Given the description of an element on the screen output the (x, y) to click on. 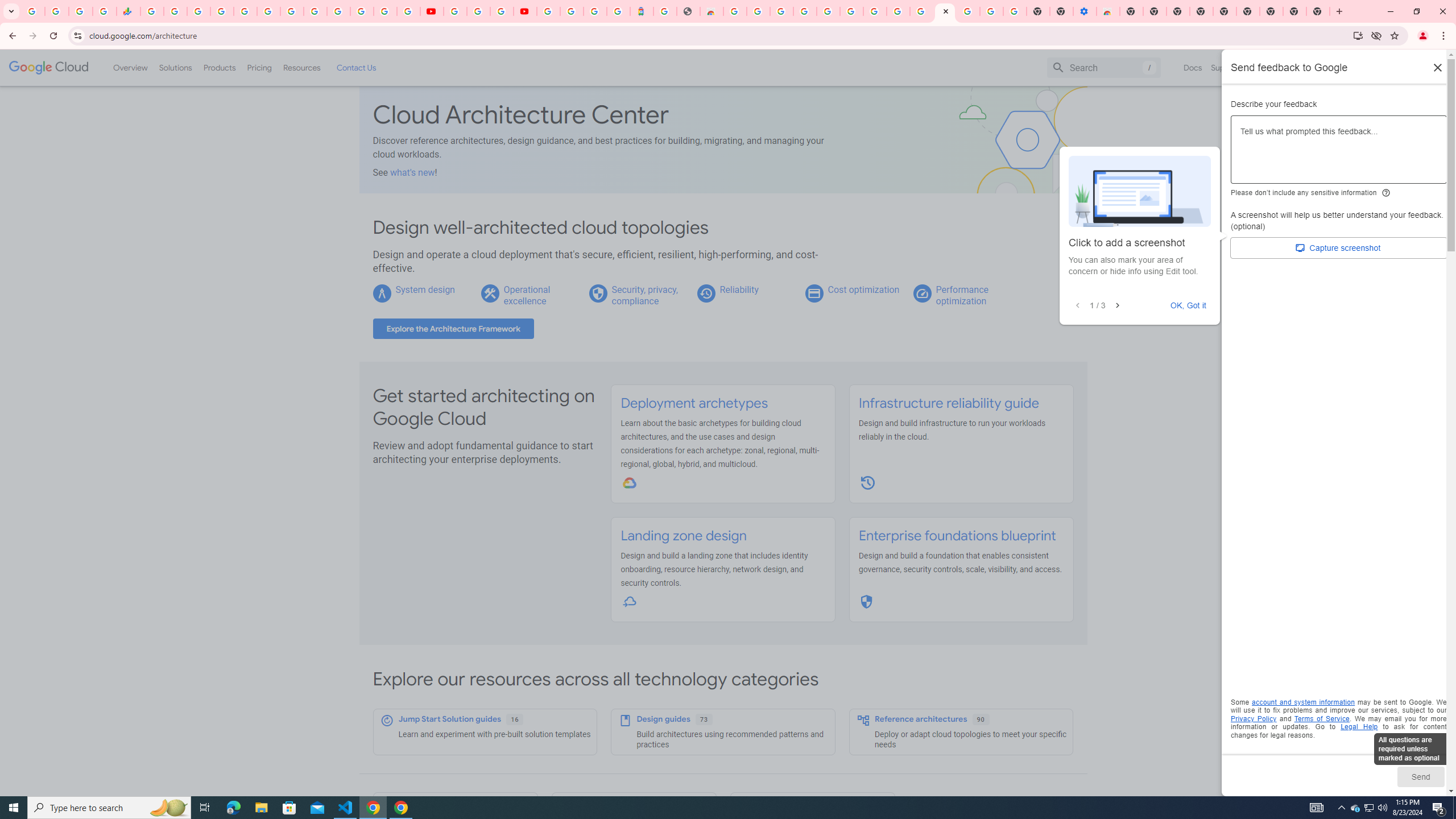
Opens in a new tab. Legal Help (1358, 727)
account and system information (1303, 702)
Sign in - Google Accounts (827, 11)
Google Workspace Admin Community (32, 11)
Sign in - Google Accounts (571, 11)
Google Cloud (48, 67)
Install Google Cloud (1358, 35)
Sign in - Google Accounts (547, 11)
Create your Google Account (757, 11)
